Given the description of an element on the screen output the (x, y) to click on. 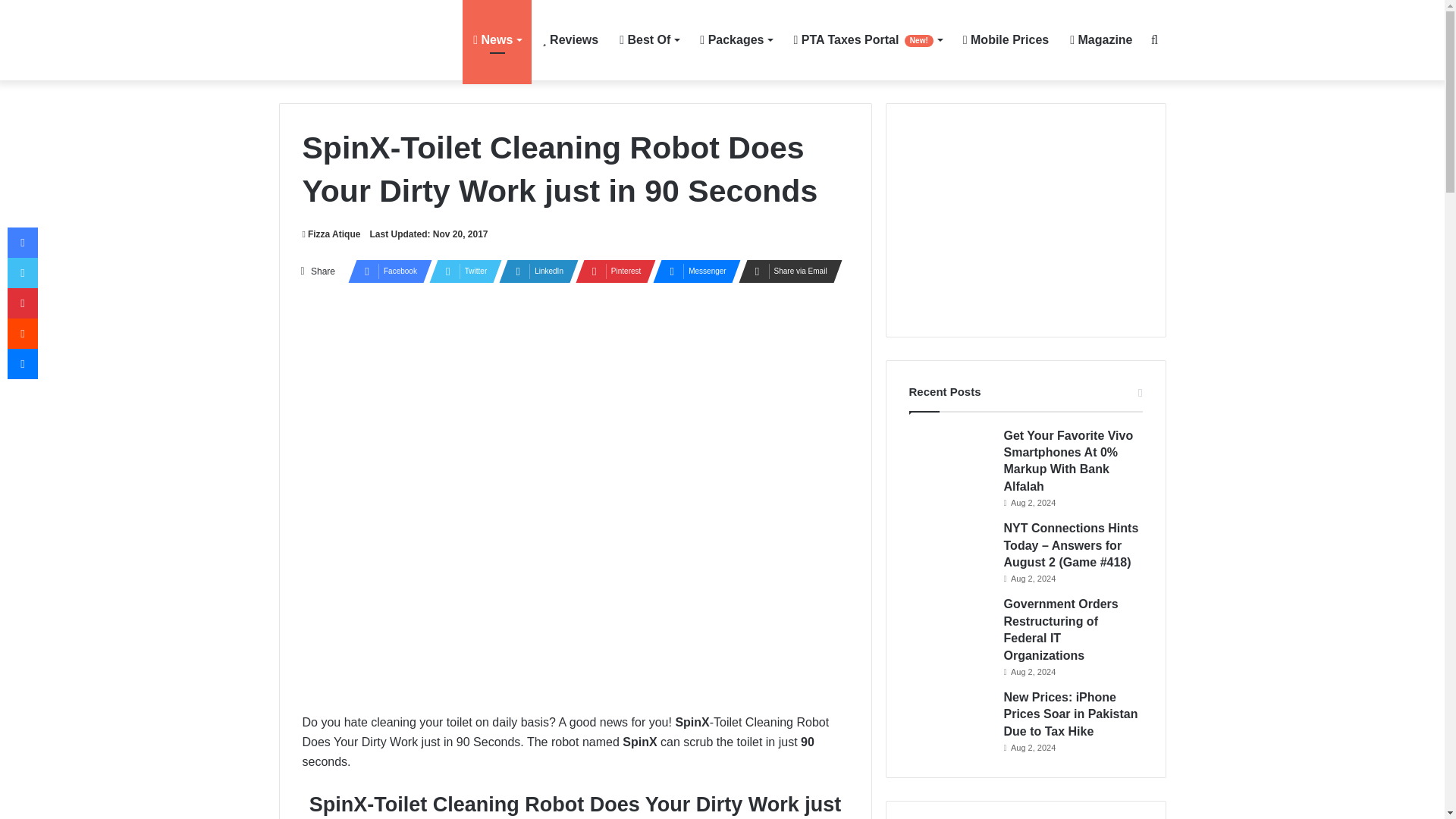
LinkedIn (534, 271)
Facebook (385, 271)
Share via Email (785, 271)
Mobile Prices (1005, 40)
Fizza Atique (330, 234)
Twitter (461, 271)
Magazine (1100, 40)
Packages (735, 40)
Messenger (692, 271)
PTA Taxes Portal New! (867, 40)
Reviews (569, 40)
Best Of (648, 40)
Pinterest (610, 271)
